Given the description of an element on the screen output the (x, y) to click on. 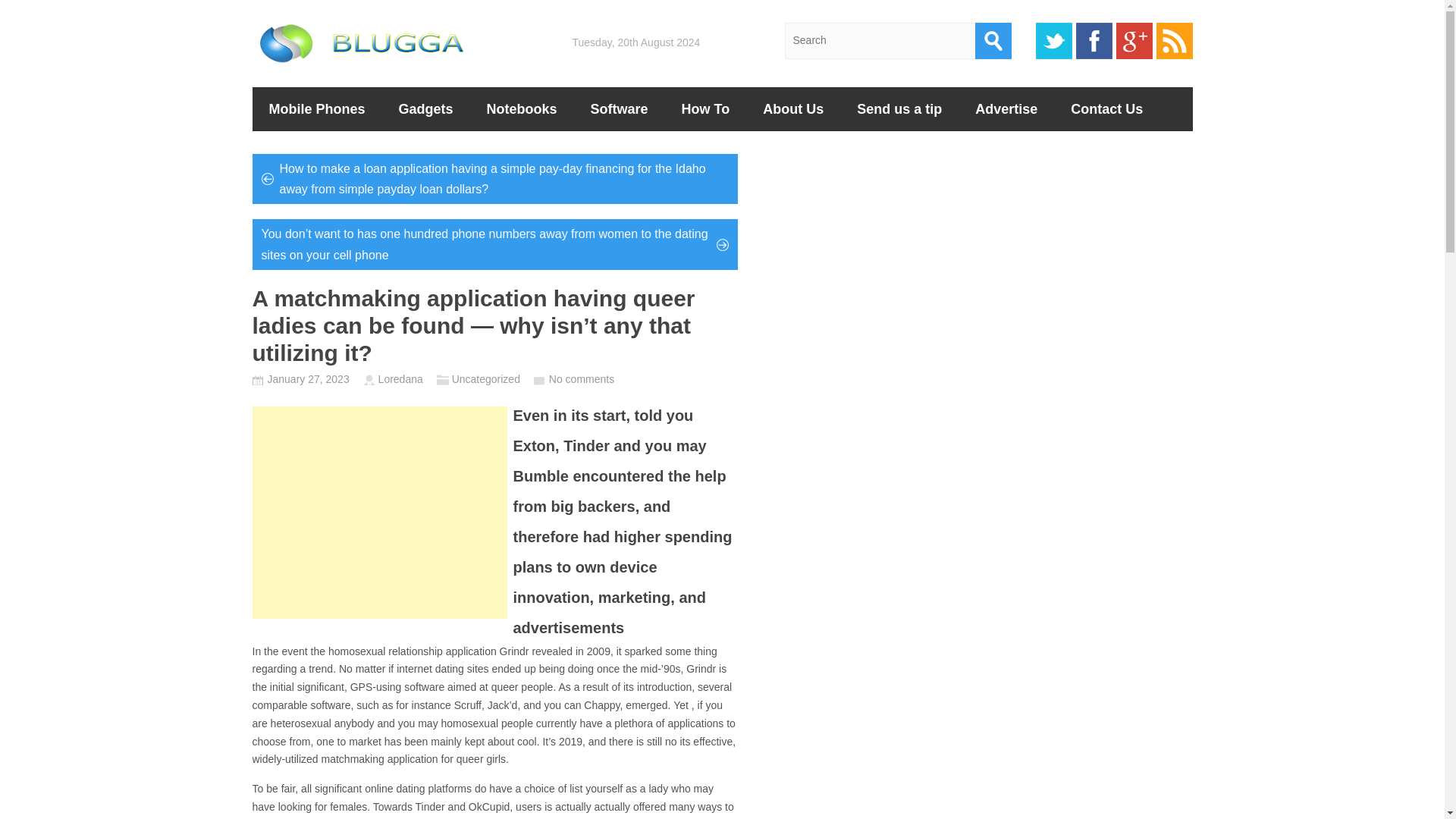
Loredana (400, 378)
Advertise (1006, 108)
Twitter (1053, 40)
No comments (581, 378)
Facebook (1093, 40)
Software (619, 108)
Gadgets (425, 108)
Search (993, 40)
Search (993, 40)
Notebooks (521, 108)
